Given the description of an element on the screen output the (x, y) to click on. 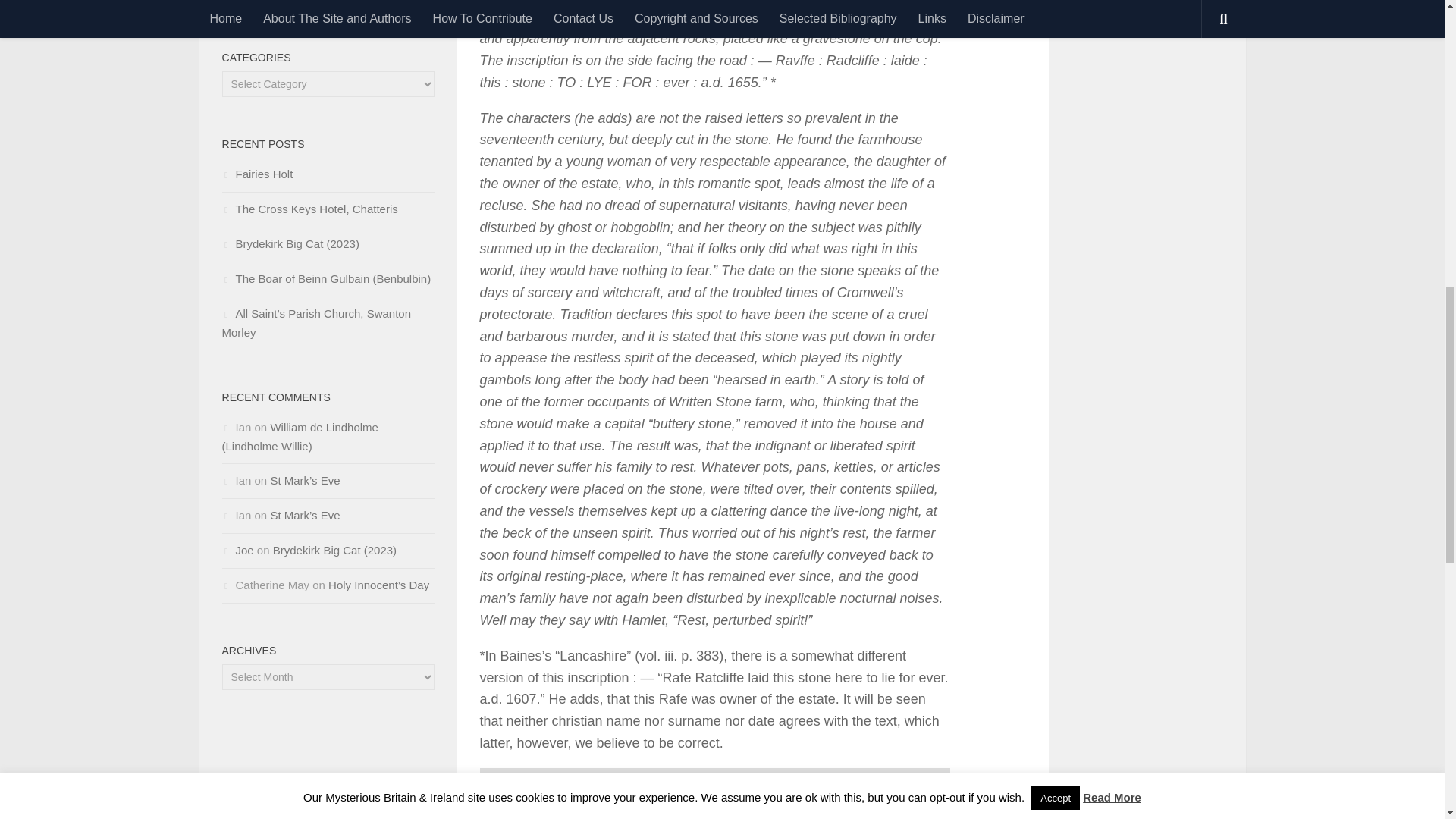
Zoom in (499, 788)
Zoom out (499, 809)
